Given the description of an element on the screen output the (x, y) to click on. 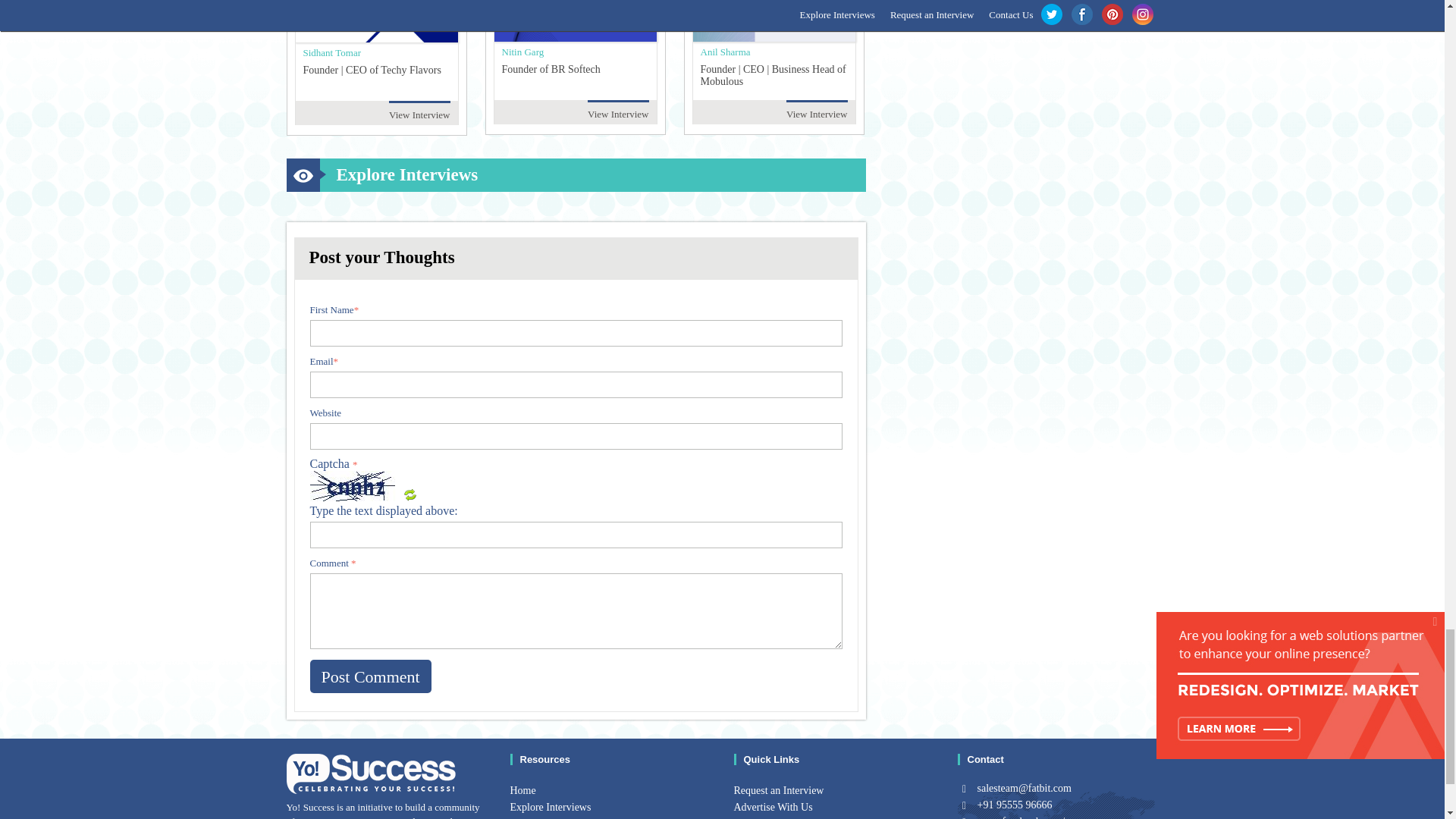
Post Comment (369, 676)
View Interview (816, 112)
View Interview (617, 112)
View Interview (418, 113)
Anil Sharma (725, 51)
Sidhant Tomar (331, 51)
Nitin Garg (523, 51)
